Given the description of an element on the screen output the (x, y) to click on. 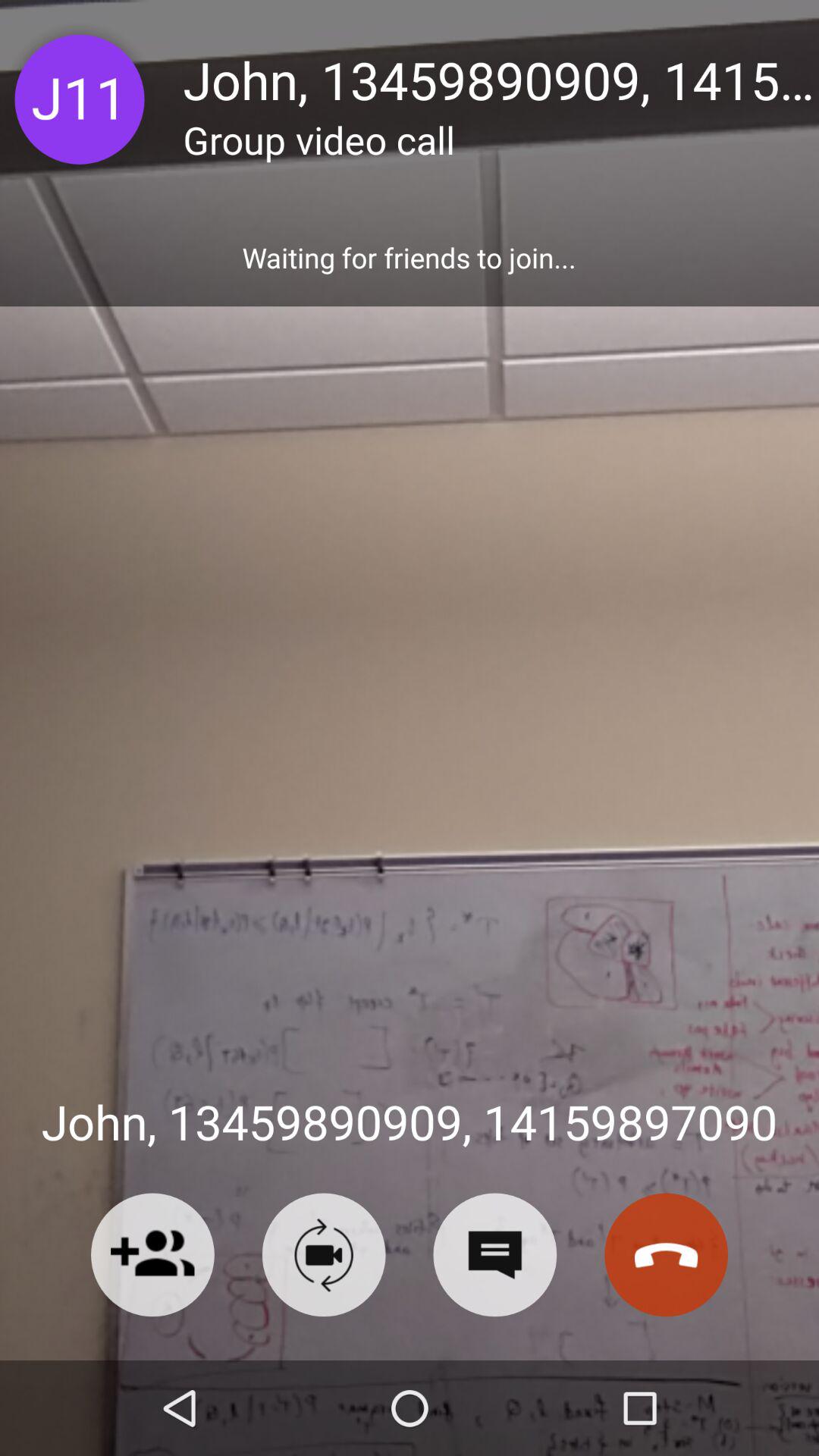
add friend (152, 1254)
